Given the description of an element on the screen output the (x, y) to click on. 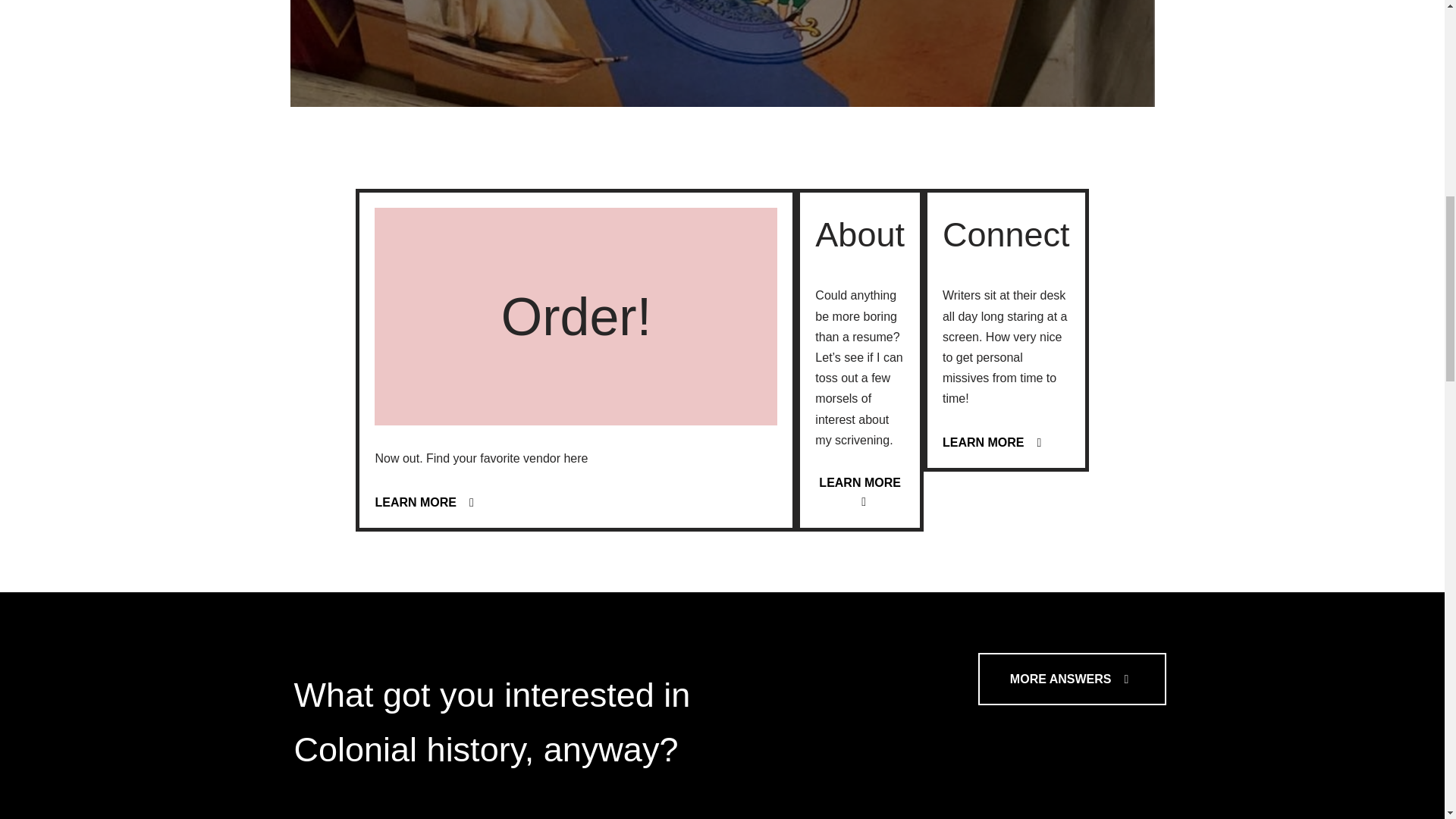
LEARN MORE (994, 442)
LEARN MORE (859, 492)
MORE ANSWERS (1072, 678)
LEARN MORE (426, 502)
